Given the description of an element on the screen output the (x, y) to click on. 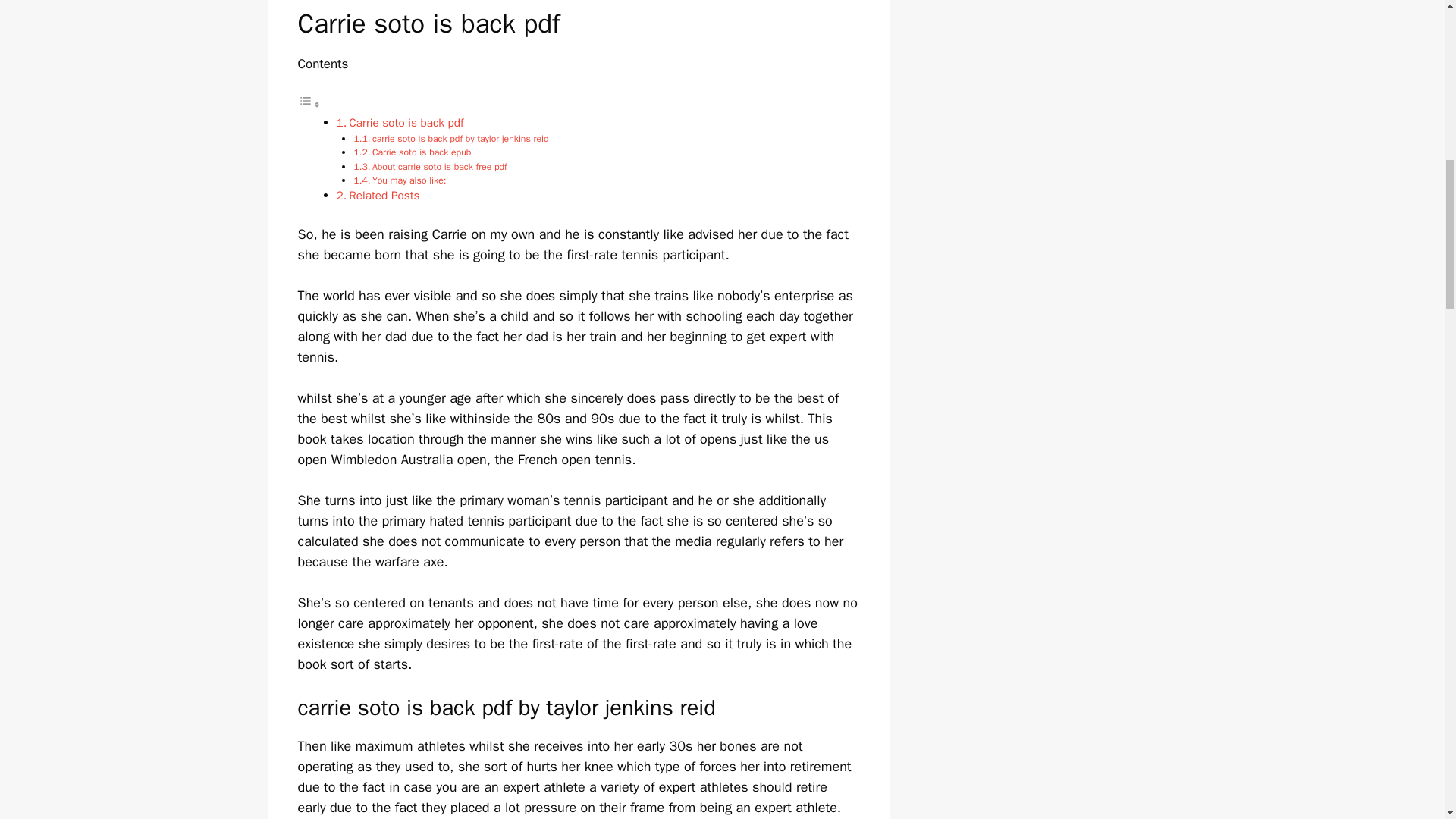
carrie soto is back pdf by taylor jenkins reid (460, 138)
About carrie soto is back free pdf (439, 166)
Carrie soto is back pdf (406, 122)
Related Posts (384, 195)
carrie soto is back pdf by taylor jenkins reid (460, 138)
You may also like: (409, 180)
About carrie soto is back free pdf (439, 166)
Carrie soto is back pdf (406, 122)
Related Posts (384, 195)
Carrie soto is back epub  (423, 152)
You may also like: (409, 180)
